Given the description of an element on the screen output the (x, y) to click on. 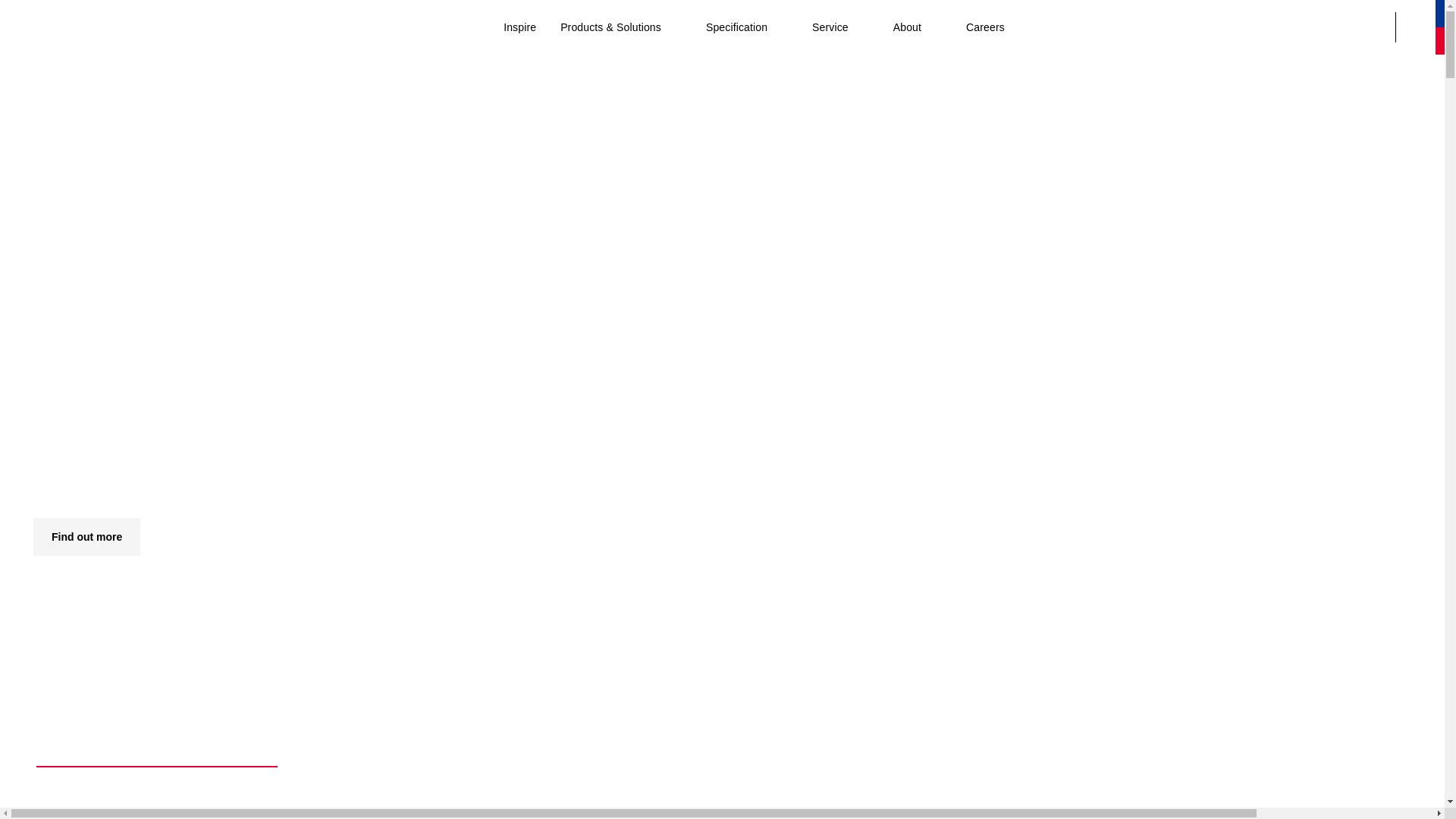
Find out more Element type: text (86, 536)
Products & Solutions Element type: text (620, 27)
Inspire Element type: text (519, 27)
Service Element type: text (840, 27)
Specification Element type: text (746, 27)
Careers Element type: text (985, 27)
About Element type: text (917, 27)
